Given the description of an element on the screen output the (x, y) to click on. 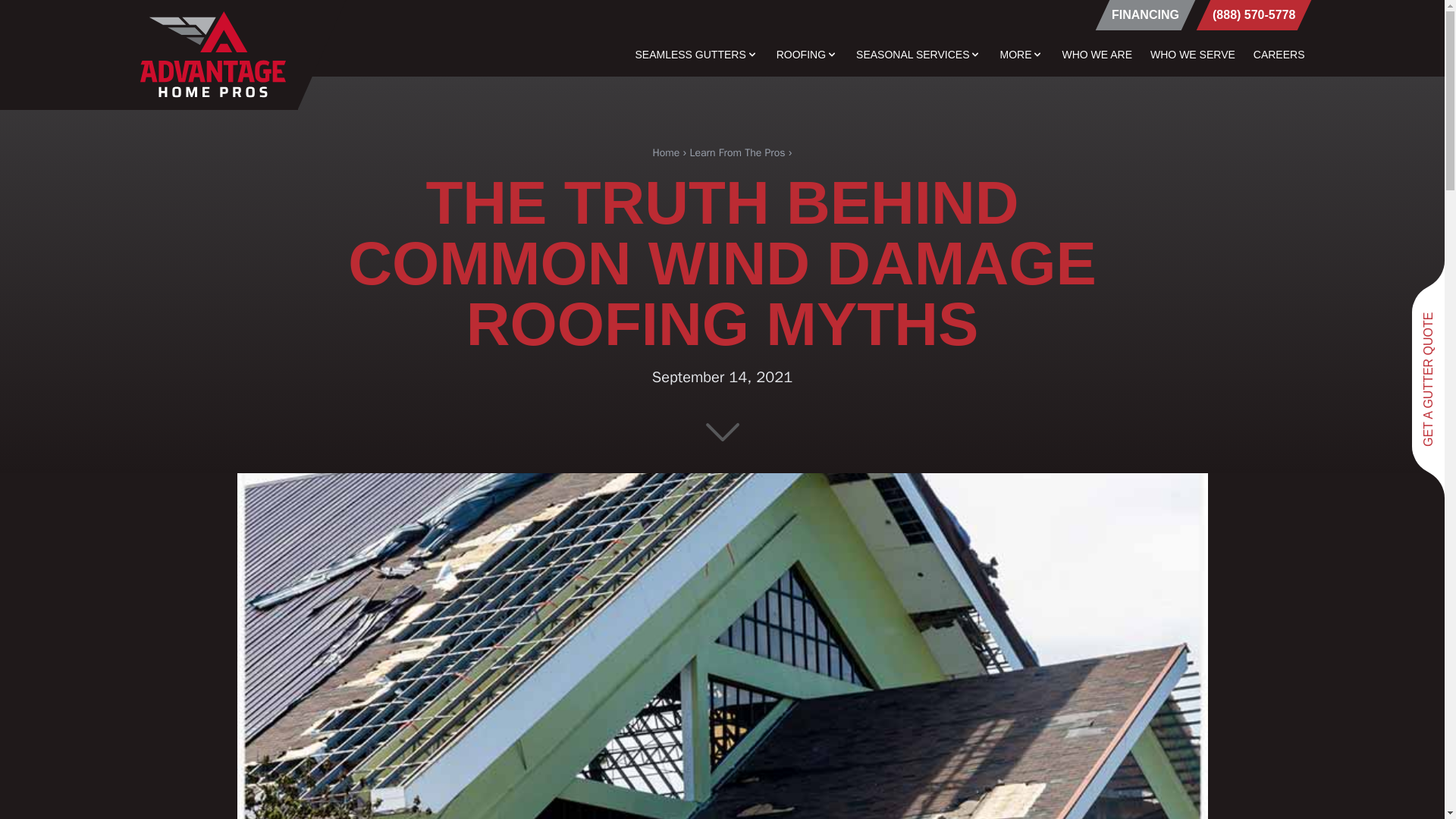
Seasonal Services (918, 53)
FINANCING (1138, 15)
ROOFING (807, 53)
Seamless Gutters (695, 53)
SEASONAL SERVICES (918, 53)
WHO WE ARE (1096, 53)
Roofing (807, 53)
CAREERS (1278, 53)
SEAMLESS GUTTERS (695, 53)
MORE (1020, 53)
